Given the description of an element on the screen output the (x, y) to click on. 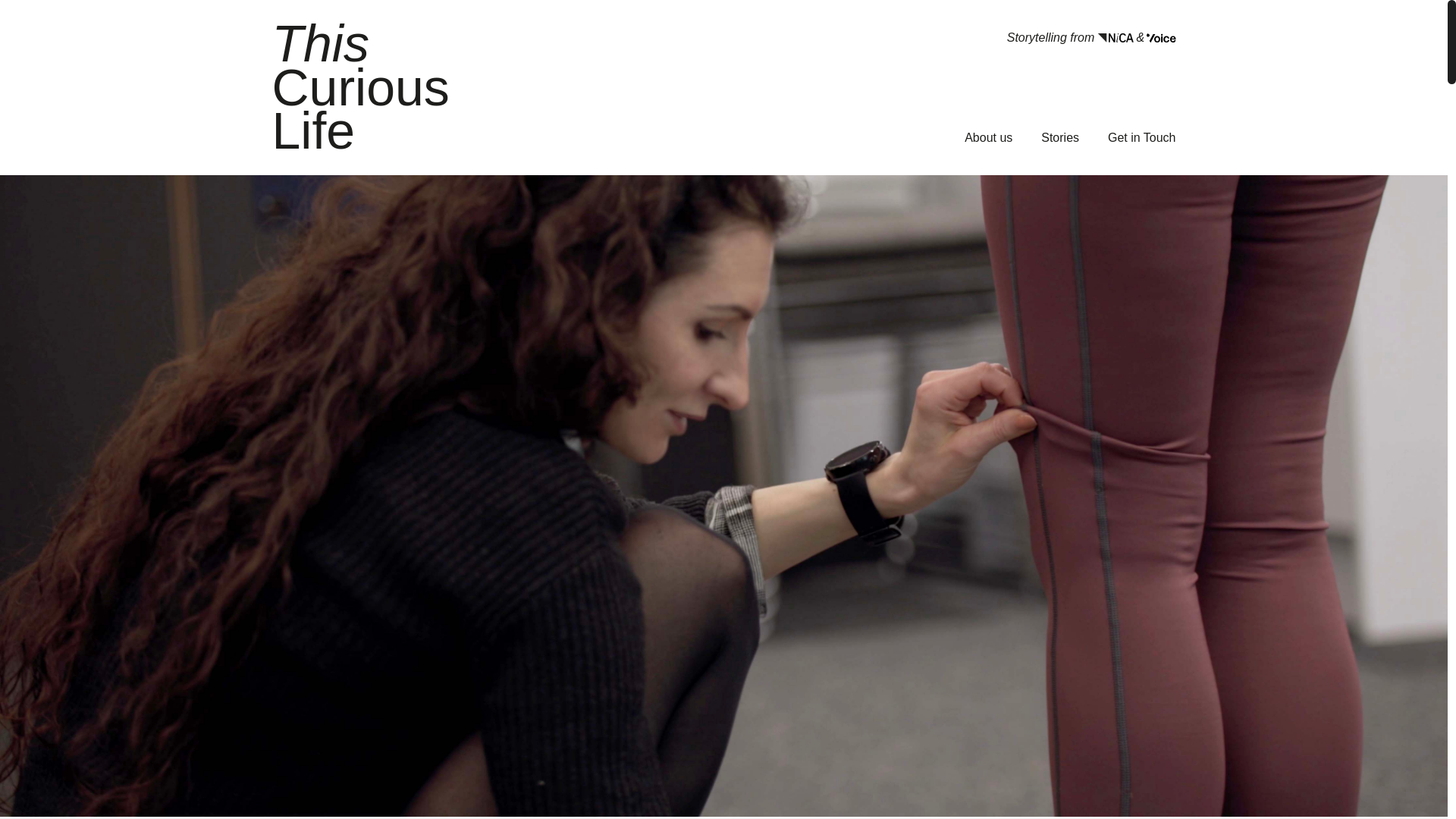
About us (987, 137)
Stories (1059, 137)
Get in Touch (1142, 137)
This Curious Life (359, 86)
